Given the description of an element on the screen output the (x, y) to click on. 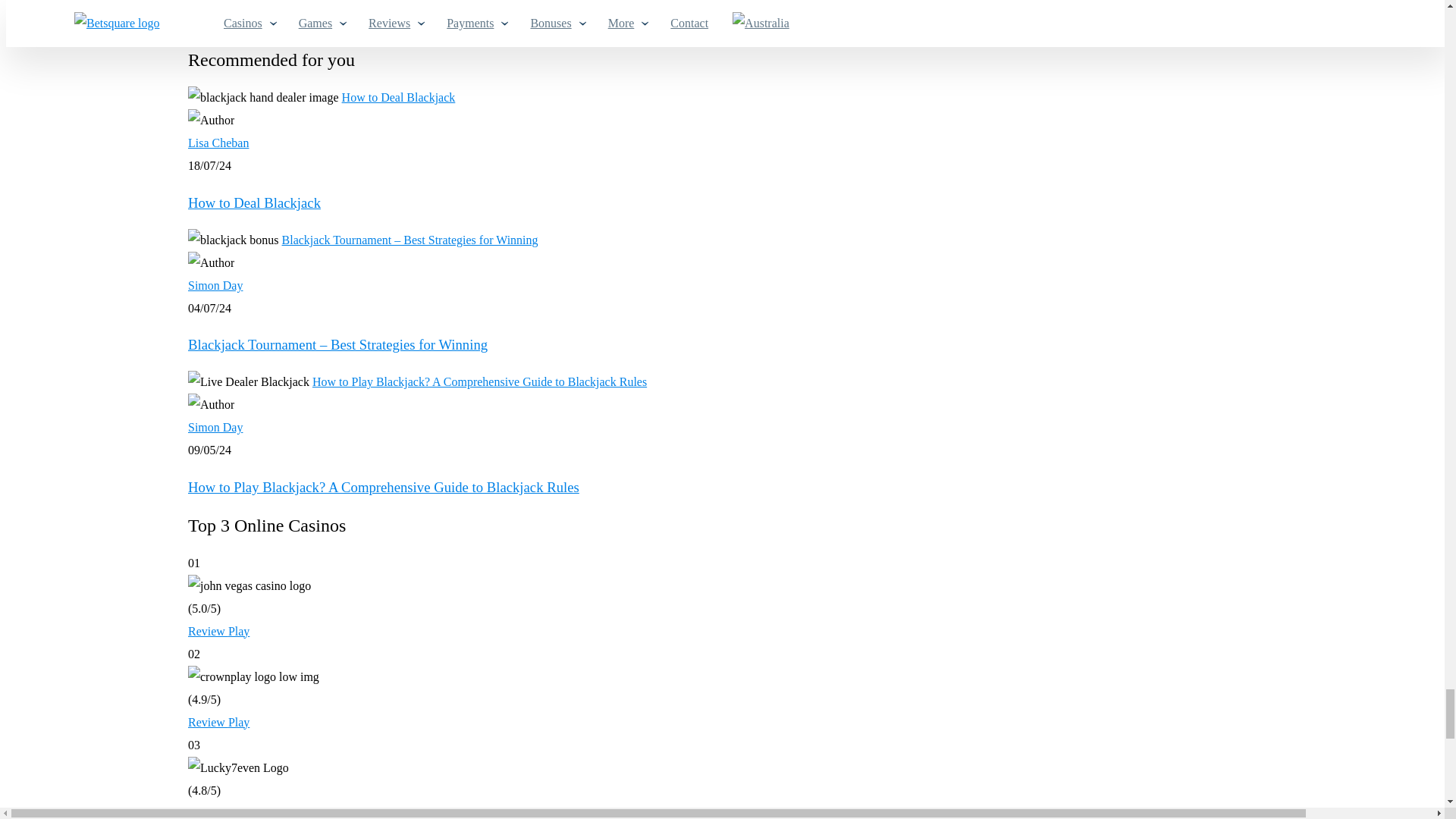
Twitter (727, 13)
